Given the description of an element on the screen output the (x, y) to click on. 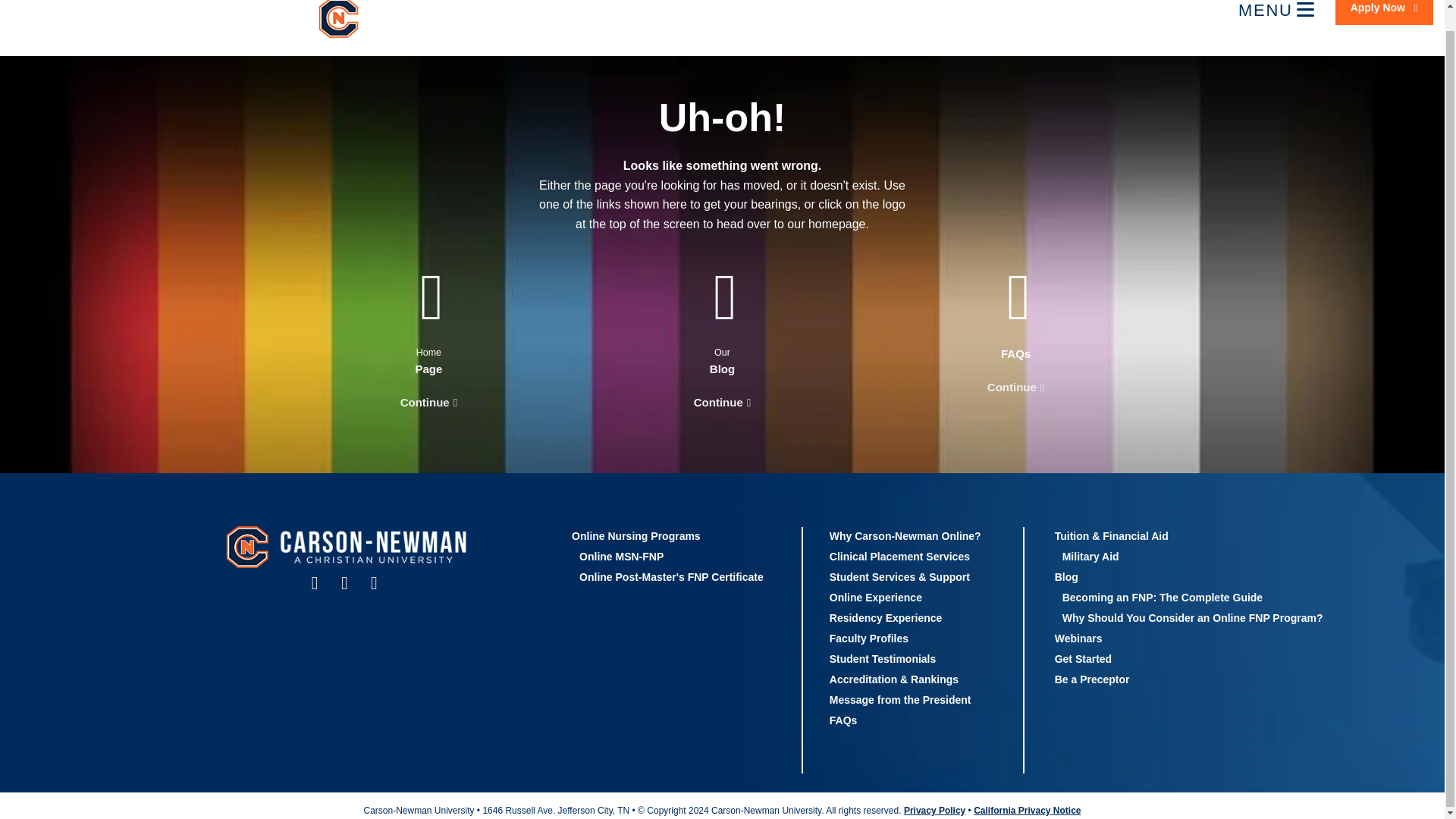
Student Testimonials (882, 658)
FAQs (843, 720)
Faculty Profiles (868, 638)
Apply Now (1383, 11)
Image (430, 20)
Continue (722, 402)
Clinical Placement Services (899, 556)
Why Carson-Newman Online? (905, 535)
Military Aid (1090, 556)
Continue (1015, 387)
Online MSN-FNP (621, 556)
Online Experience (875, 597)
Webinars (1078, 638)
Online Post-Master's FNP Certificate (670, 576)
